Given the description of an element on the screen output the (x, y) to click on. 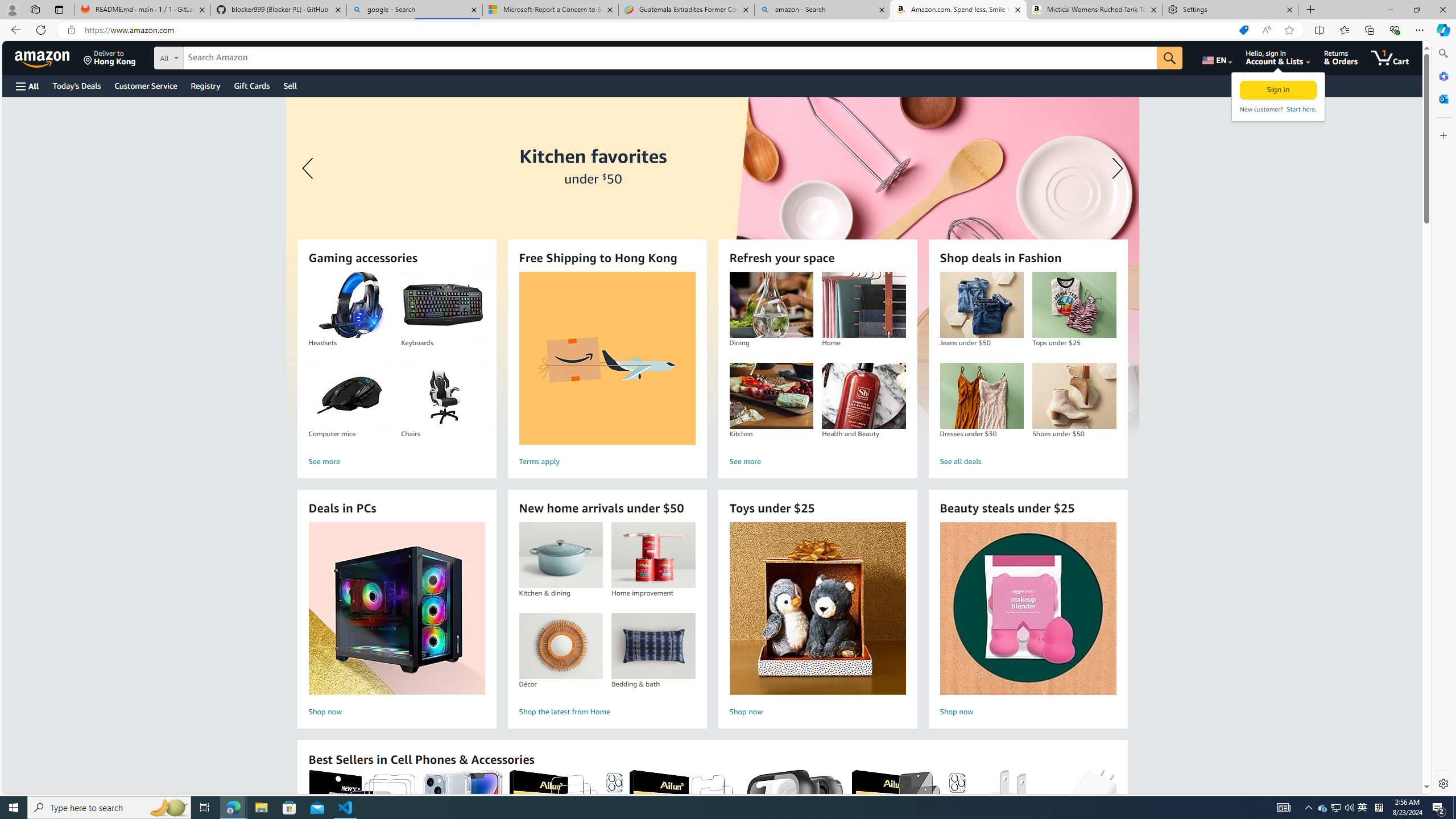
Computer mice (350, 395)
Microsoft 365 (1442, 76)
Copilot (Ctrl+Shift+.) (1442, 29)
Gift Cards (251, 85)
Search Amazon (670, 57)
Go (1169, 57)
Bedding & bath (652, 645)
Collections (1369, 29)
Beauty steals under $25 Shop now (1028, 620)
Address and search bar (658, 29)
Tab actions menu (58, 9)
Deals in PCs (395, 608)
Choose a language for shopping. (1216, 57)
